Given the description of an element on the screen output the (x, y) to click on. 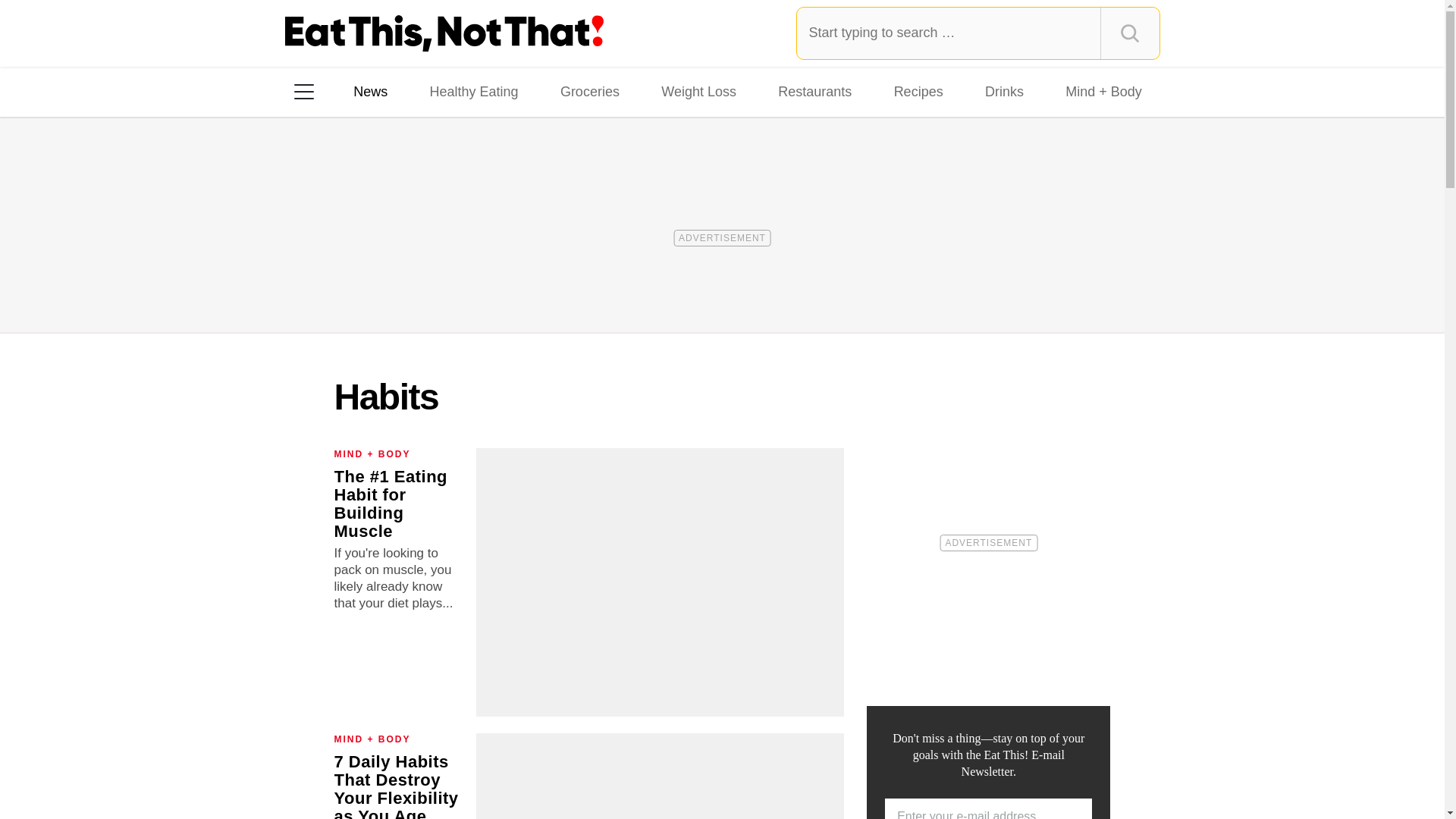
Healthy Eating (473, 91)
TikTok (399, 287)
Restaurants (814, 91)
Facebook (314, 287)
Instagram (357, 287)
Recipes (918, 91)
Type and press Enter to search (978, 32)
Instagram (357, 287)
Pinterest (443, 287)
News (370, 91)
